Given the description of an element on the screen output the (x, y) to click on. 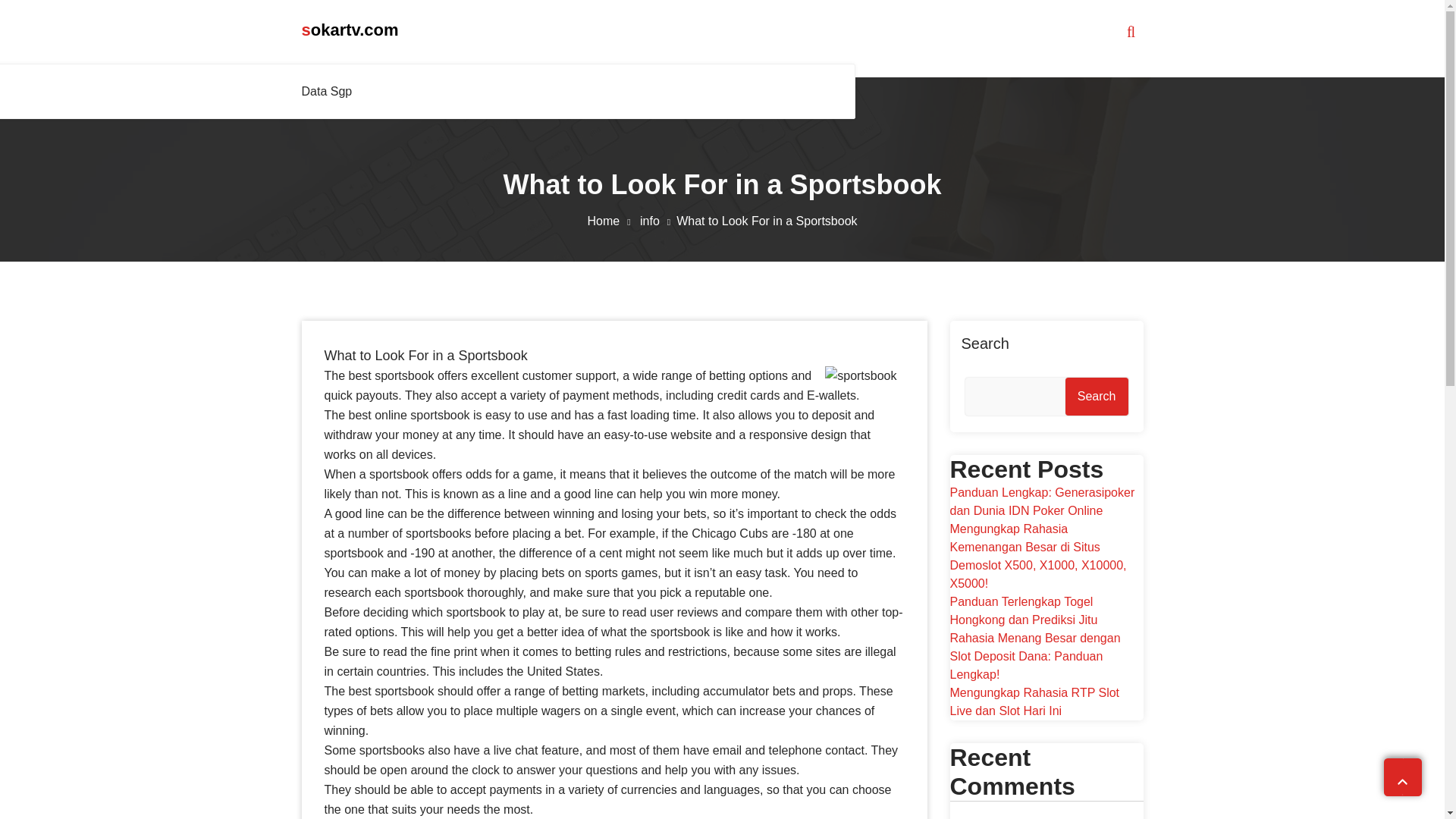
Home (611, 220)
Panduan Lengkap: Generasipoker dan Dunia IDN Poker Online (1041, 501)
Panduan Terlengkap Togel Hongkong dan Prediksi Jitu (1023, 610)
Data Sgp (330, 91)
sokartv.com (349, 30)
info (658, 220)
Mengungkap Rahasia RTP Slot Live dan Slot Hari Ini (1034, 701)
Data Sgp (330, 91)
Search (1096, 396)
